Given the description of an element on the screen output the (x, y) to click on. 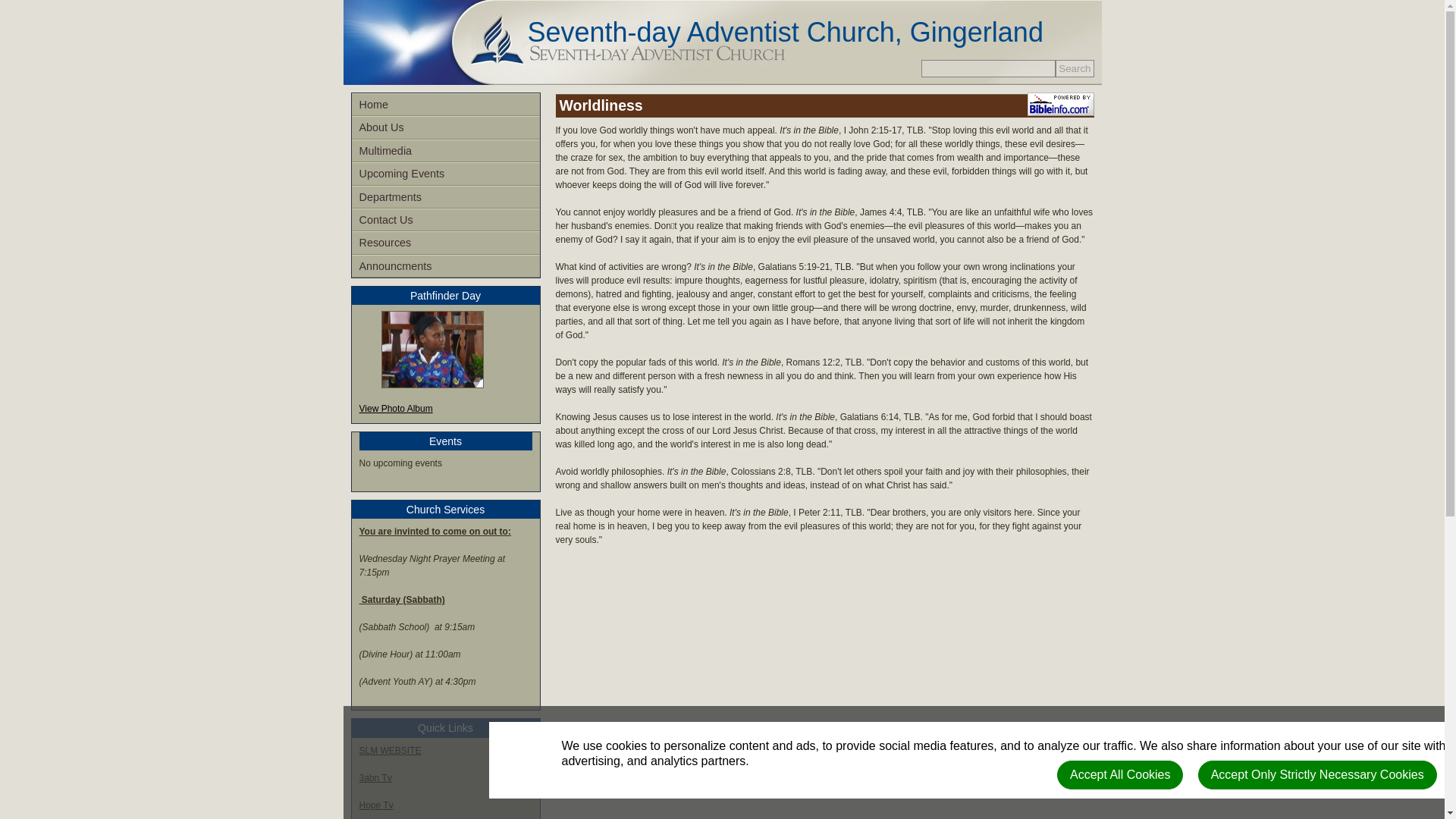
Contact Us (446, 219)
Announcments (446, 265)
Hope Tv (376, 804)
Resources (446, 241)
Upcoming Events (446, 173)
About Us (446, 127)
Departments (446, 196)
View Photo Album (395, 408)
Home (446, 104)
SLM WEBSITE (390, 749)
